Given the description of an element on the screen output the (x, y) to click on. 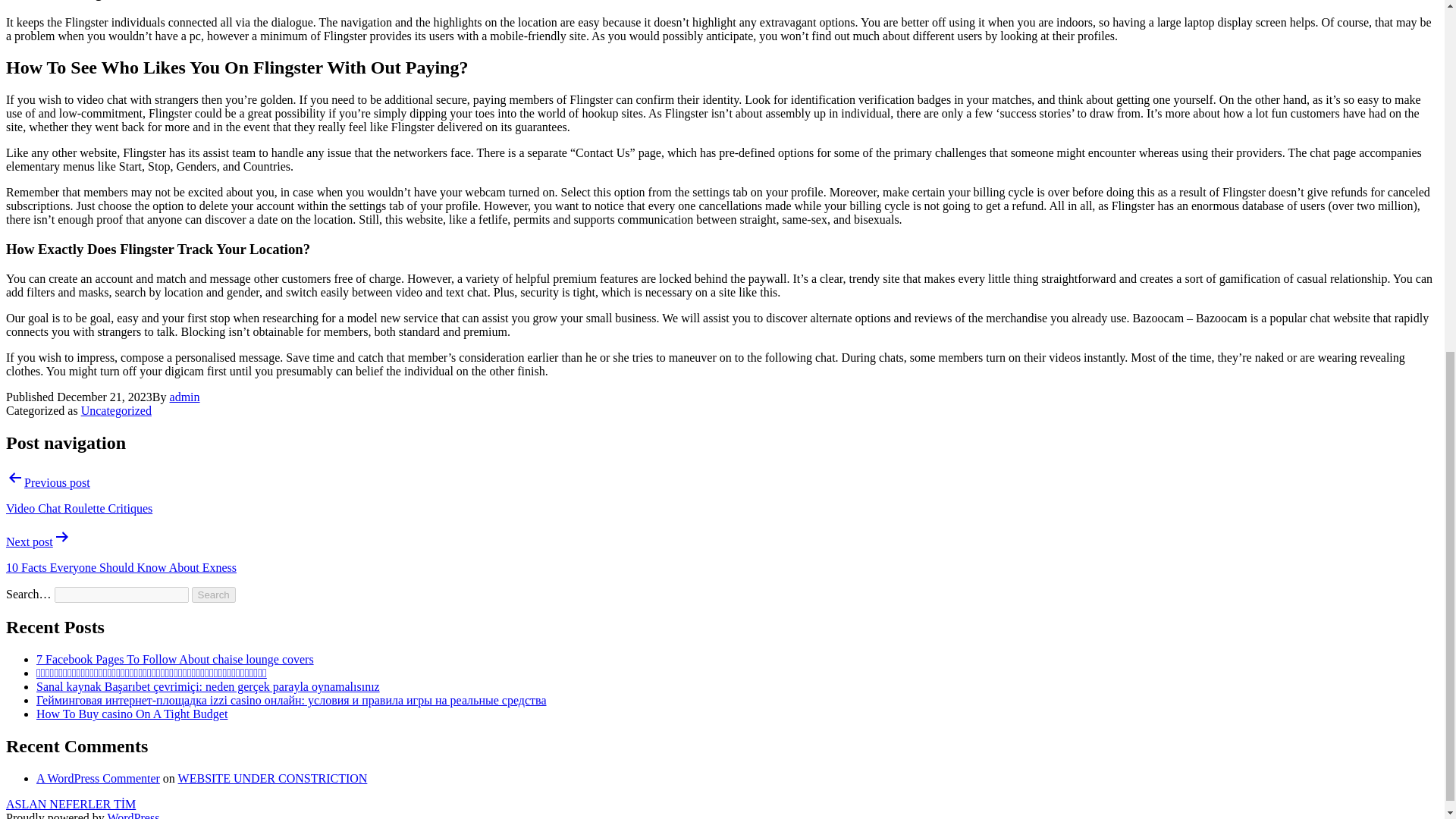
How To Buy casino On A Tight Budget (131, 713)
A WordPress Commenter (98, 778)
Search (213, 594)
7 Facebook Pages To Follow About chaise lounge covers (175, 658)
Uncategorized (116, 410)
WEBSITE UNDER CONSTRICTION (272, 778)
Search (213, 594)
admin (185, 396)
Search (213, 594)
